Given the description of an element on the screen output the (x, y) to click on. 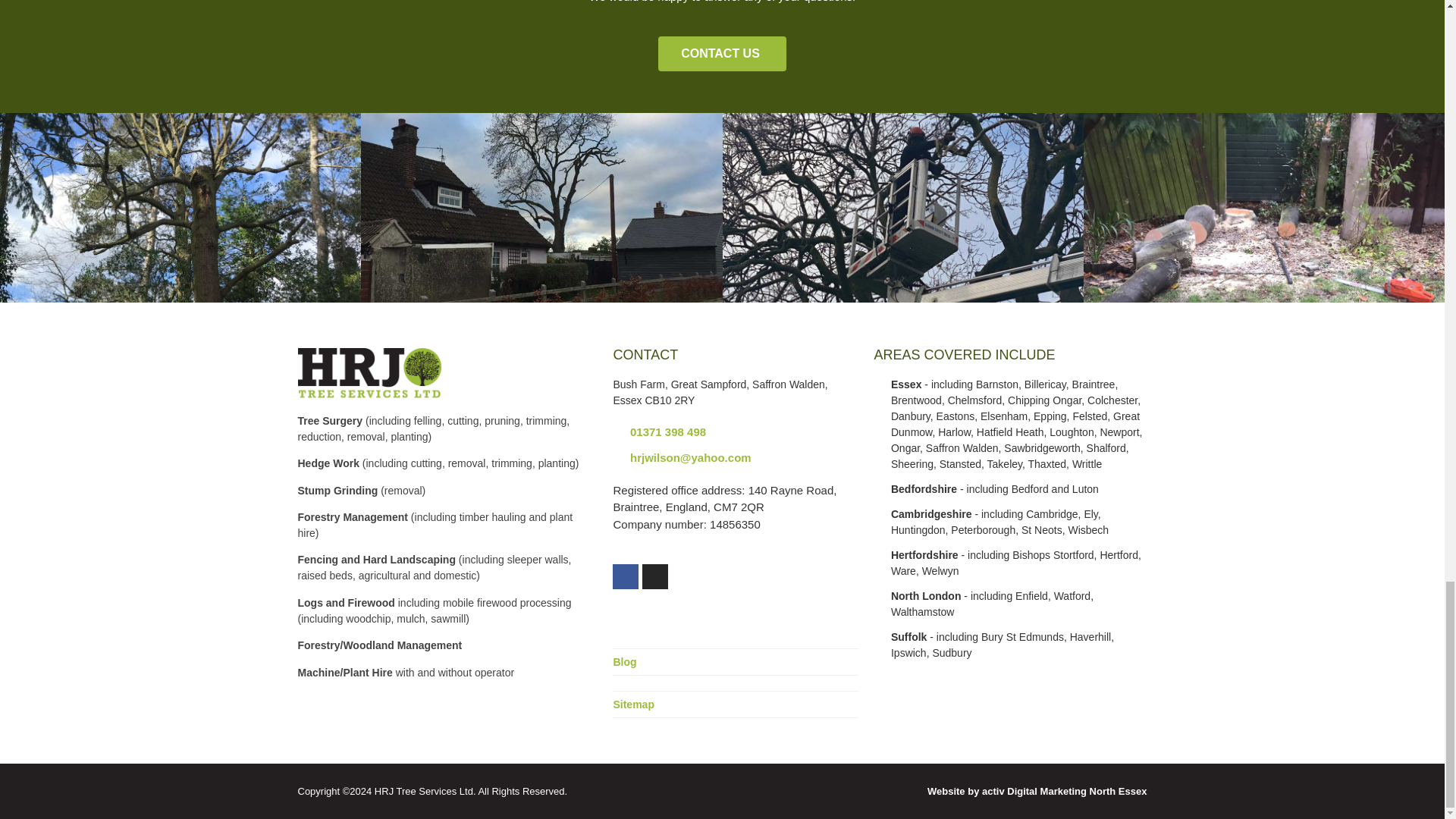
Sitemap (632, 704)
Click to call (735, 432)
Email us (735, 457)
Website by activ Digital Marketing North Essex (1037, 790)
CONTACT US (722, 53)
Follow HRJ on Insta (655, 576)
Follow HRJ on Facebook (625, 576)
Blog (624, 662)
activ Digital Marketing North Essex (1037, 790)
01371 398 498 (735, 432)
Contact HRJ Tree Services (722, 53)
